Given the description of an element on the screen output the (x, y) to click on. 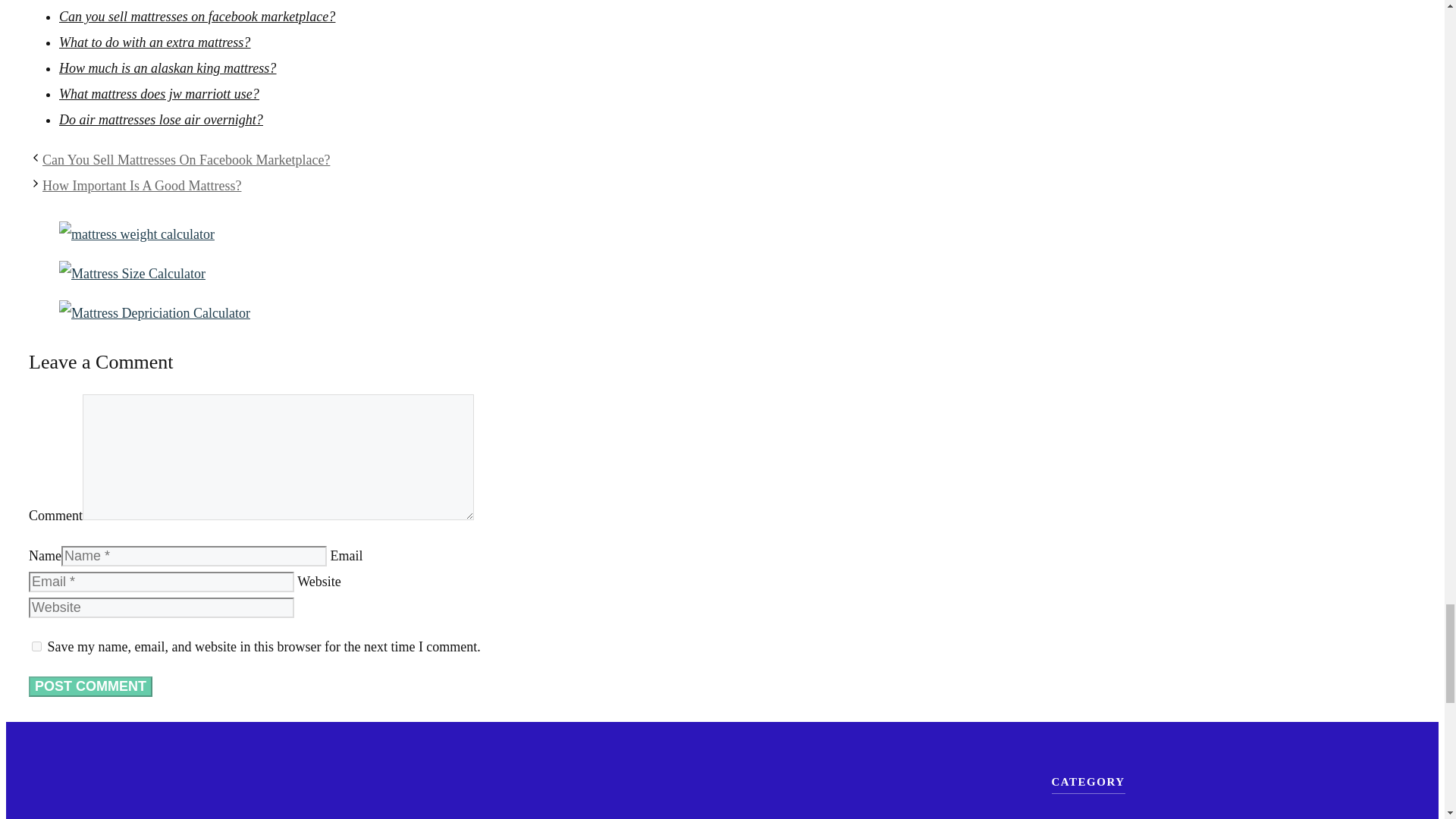
Post Comment (90, 686)
yes (37, 646)
Can you sell mattresses on facebook marketplace? (196, 16)
What mattress does jw marriott use? (159, 93)
What to do with an extra mattress? (154, 42)
How much is an alaskan king mattress? (167, 68)
